Given the description of an element on the screen output the (x, y) to click on. 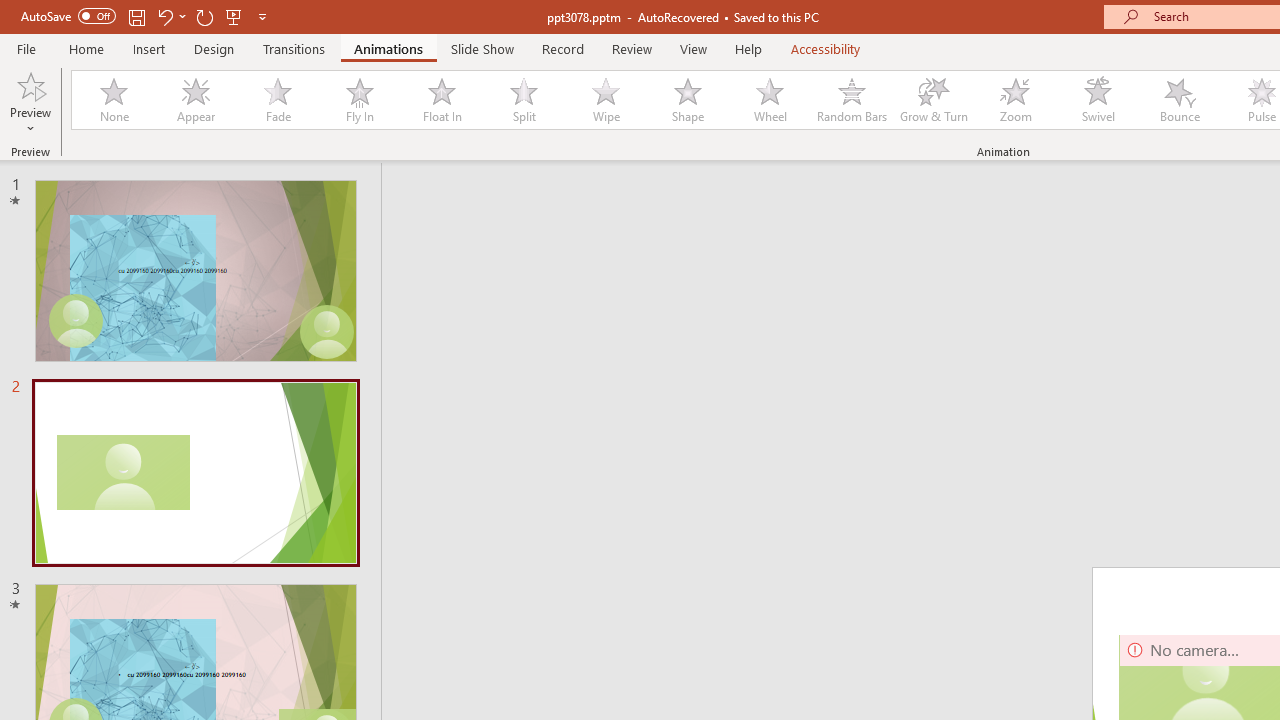
Review (631, 48)
Quick Access Toolbar (145, 16)
AutoSave (68, 16)
System (10, 11)
Wheel (770, 100)
Shape (687, 100)
Preview (30, 102)
Home (86, 48)
Wipe (605, 100)
Insert (149, 48)
Design (214, 48)
None (113, 100)
From Beginning (234, 15)
Slide Show (481, 48)
